Given the description of an element on the screen output the (x, y) to click on. 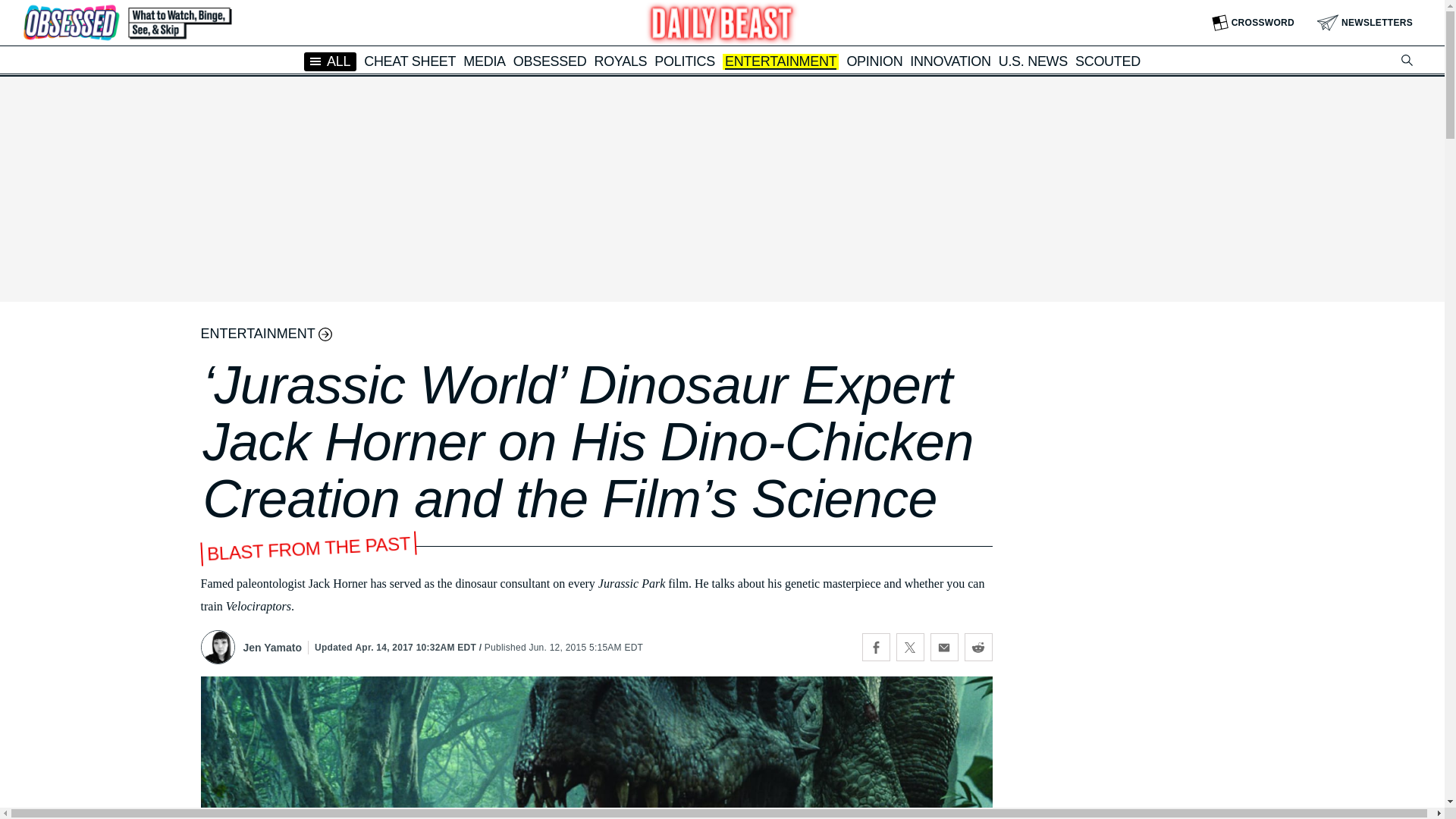
OPINION (873, 60)
SCOUTED (1107, 60)
CROSSWORD (1252, 22)
U.S. NEWS (1032, 60)
OBSESSED (549, 60)
NEWSLETTERS (1364, 22)
ROYALS (620, 60)
INNOVATION (950, 60)
ENTERTAINMENT (780, 61)
CHEAT SHEET (409, 60)
